Given the description of an element on the screen output the (x, y) to click on. 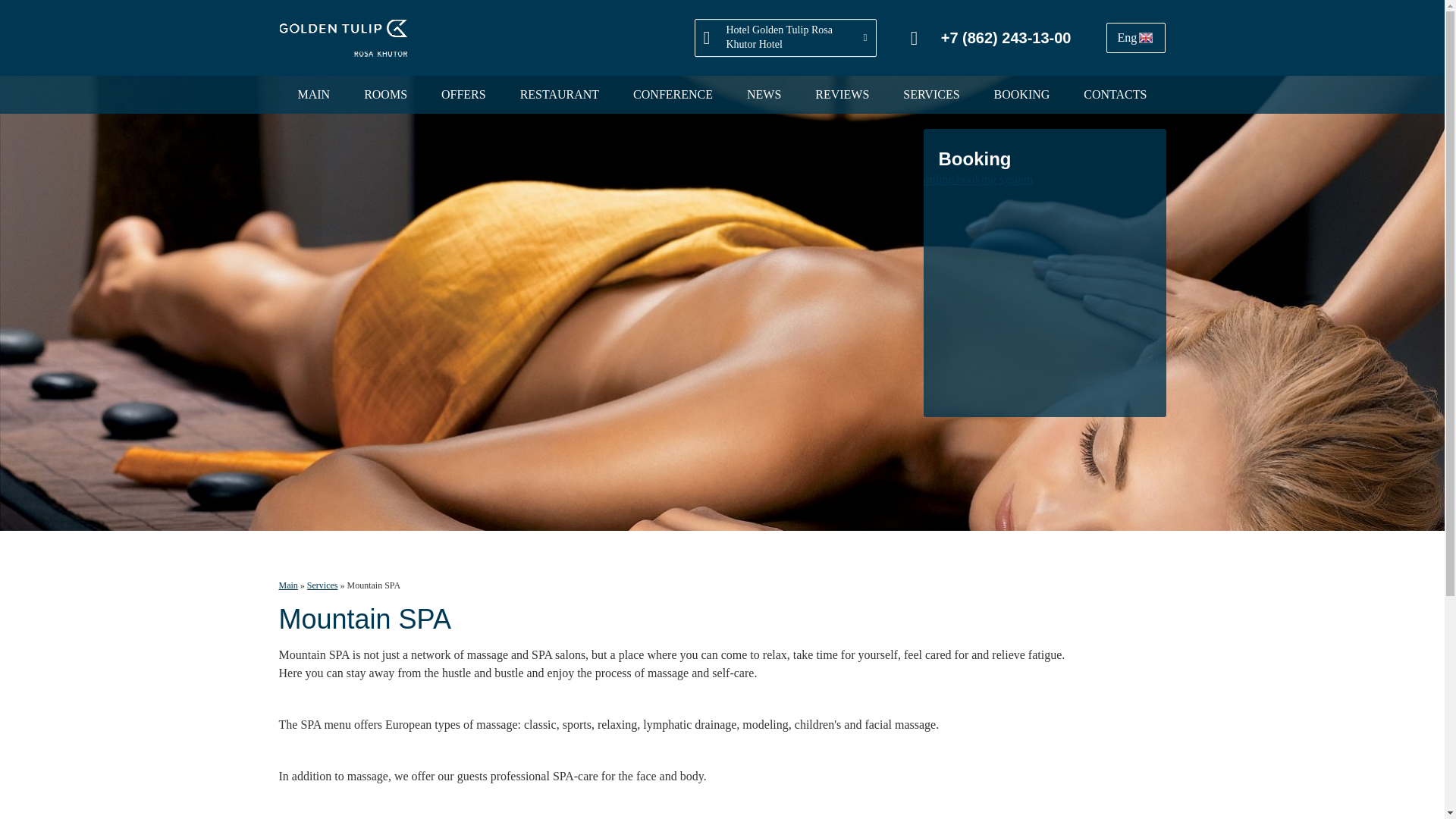
Services (322, 584)
REVIEWS (842, 94)
RESTAURANT (559, 94)
BOOKING (1021, 94)
Golden Tulip Rosa Khutor Hotel (343, 38)
CONFERENCE (673, 94)
Main (288, 584)
NEWS (763, 94)
OFFERS (463, 94)
ROOMS (385, 94)
